Given the description of an element on the screen output the (x, y) to click on. 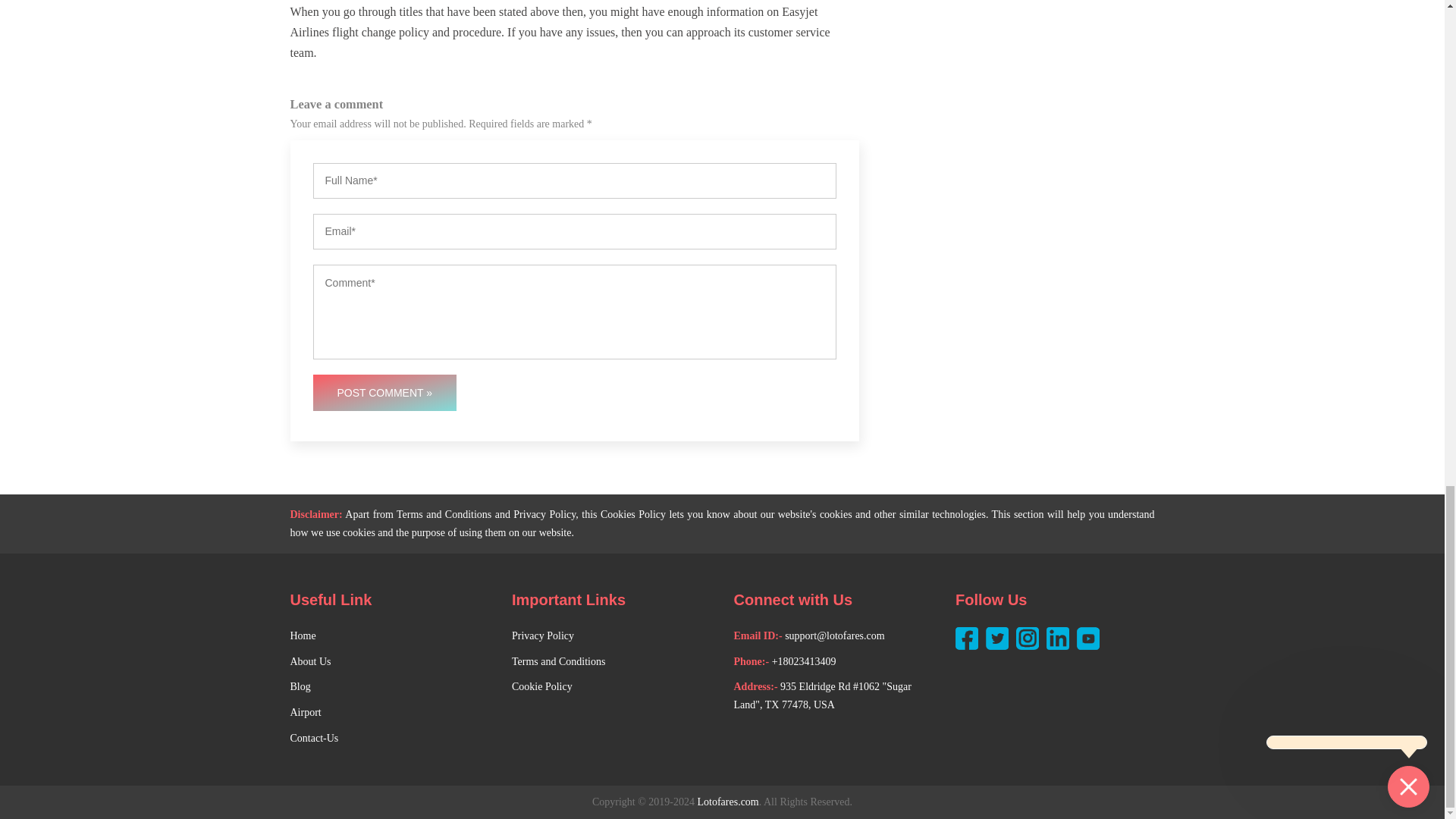
Blog (299, 687)
Cookie Policy (542, 687)
Contact-Us (313, 738)
Lotofares.com (727, 802)
Airport (304, 712)
Terms and Conditions (558, 661)
Privacy Policy (542, 636)
Home (302, 636)
About Us (309, 661)
